Given the description of an element on the screen output the (x, y) to click on. 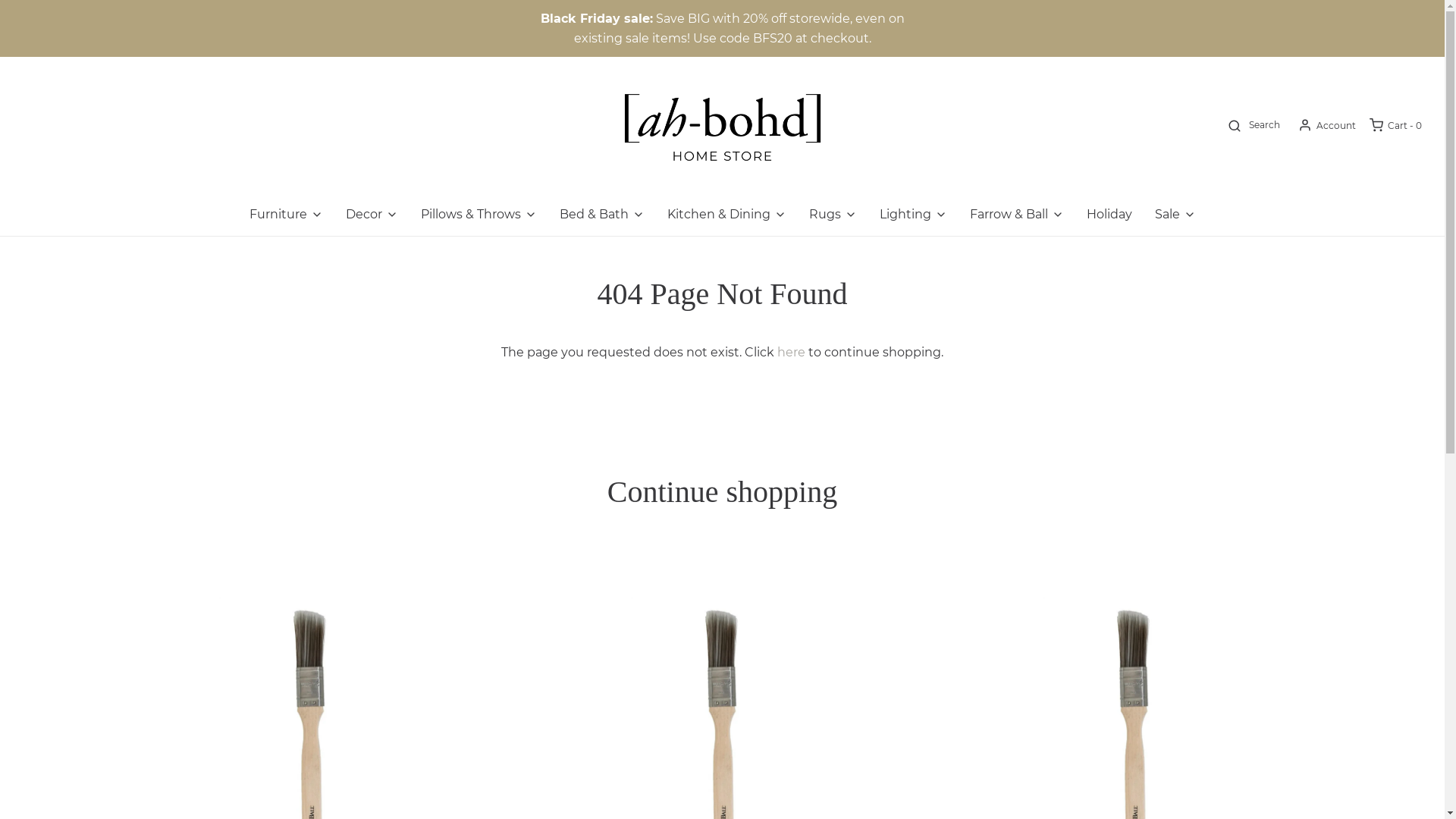
Farrow & Ball Element type: text (1016, 214)
Kitchen & Dining Element type: text (726, 214)
Rugs Element type: text (832, 214)
Cart - 0 Element type: text (1394, 125)
Account Element type: text (1325, 125)
Lighting Element type: text (913, 214)
Sale Element type: text (1174, 214)
Pillows & Throws Element type: text (478, 214)
Furniture Element type: text (285, 214)
Bed & Bath Element type: text (601, 214)
Decor Element type: text (371, 214)
Search Element type: text (1251, 124)
Holiday Element type: text (1108, 214)
here Element type: text (791, 352)
